Given the description of an element on the screen output the (x, y) to click on. 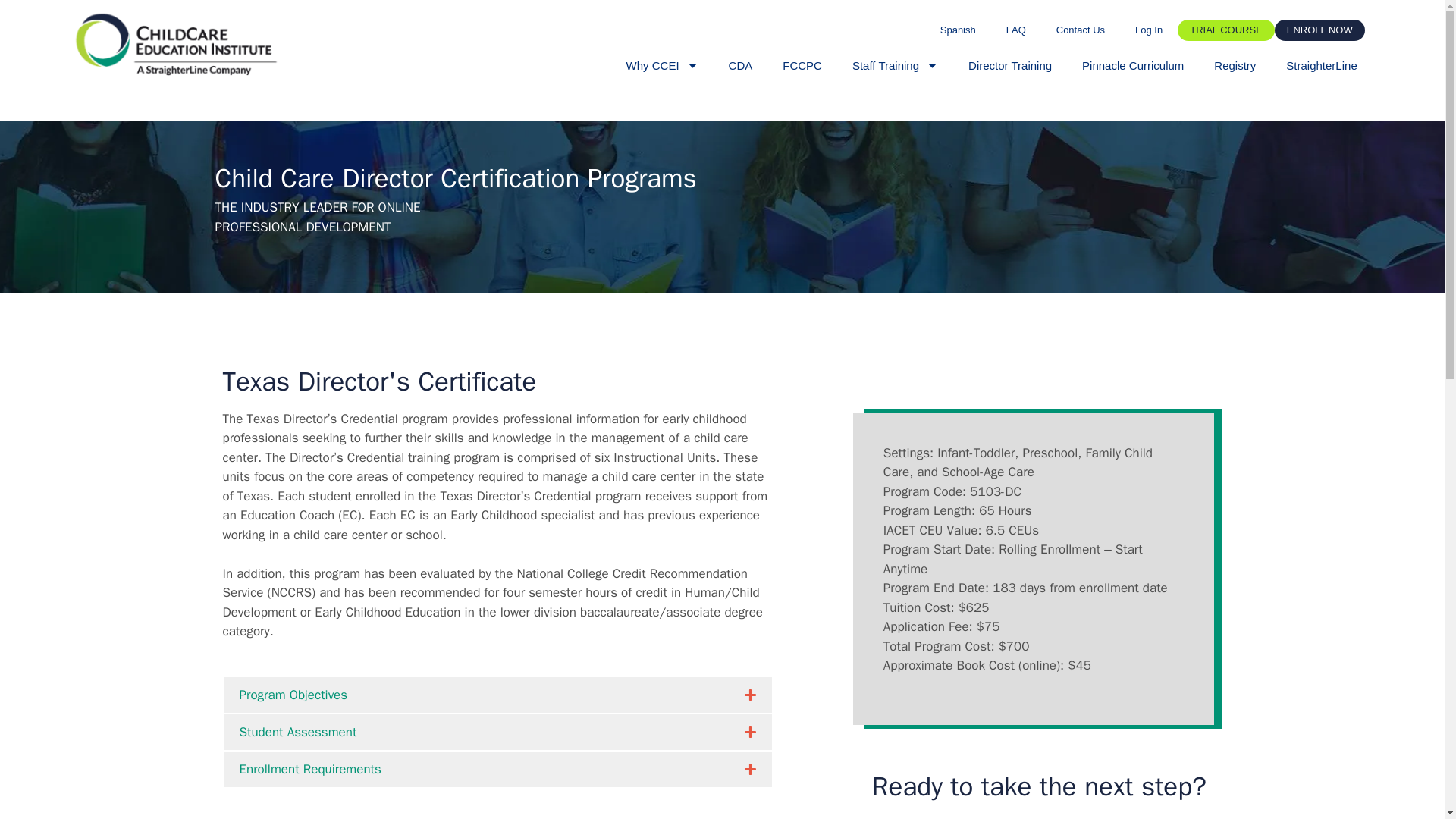
FCCPC (802, 65)
Director Training (1010, 65)
Spanish (957, 30)
FAQ (1016, 30)
Staff Training (895, 65)
Registry (1234, 65)
ENROLL NOW (1320, 29)
Contact Us (1080, 30)
Pinnacle Curriculum (1132, 65)
TRIAL COURSE (1226, 29)
CDA (740, 65)
StraighterLine (1321, 65)
Log In (1148, 30)
Why CCEI (662, 65)
